Given the description of an element on the screen output the (x, y) to click on. 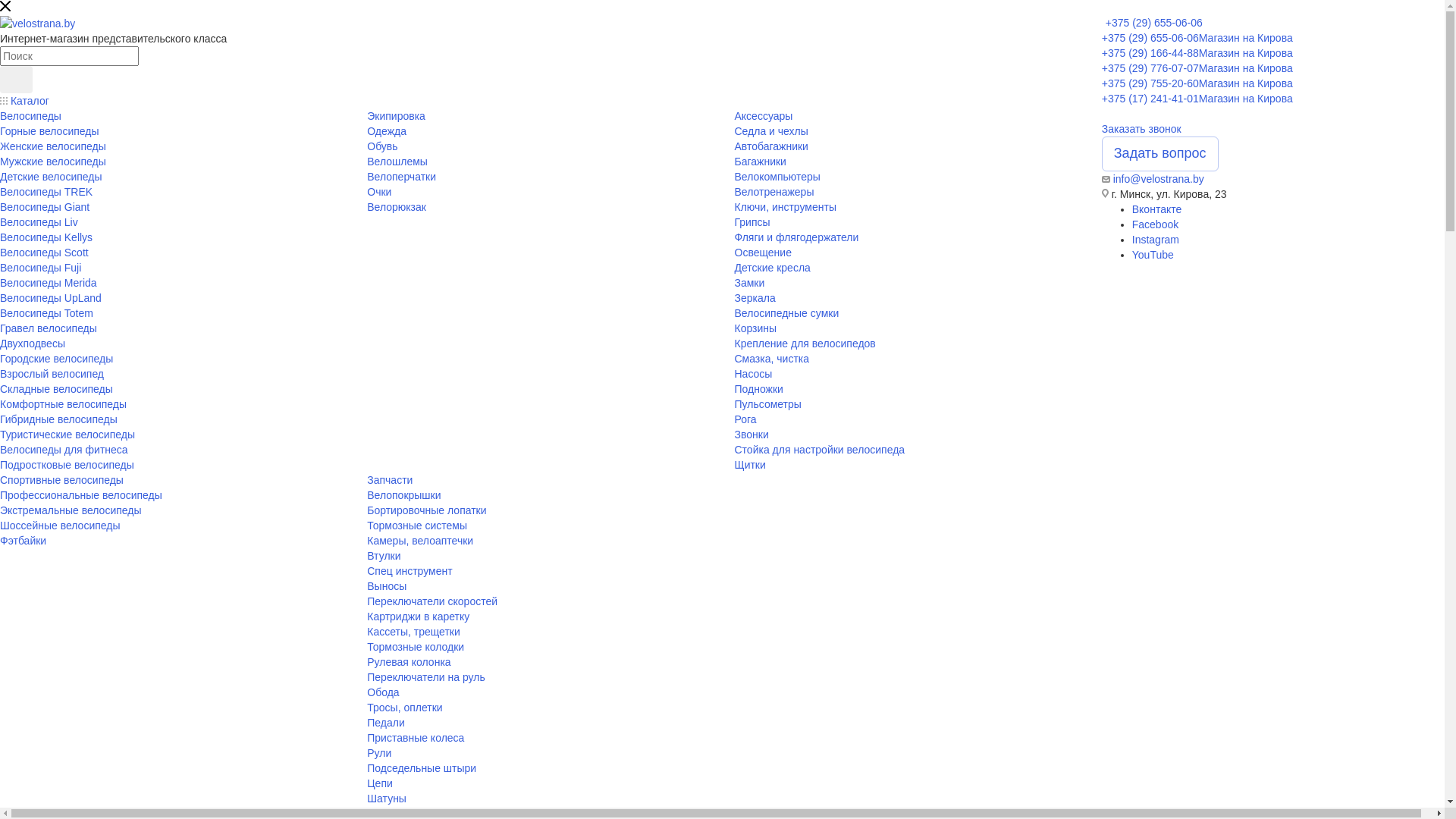
velostrana.by Element type: hover (37, 23)
Facebook Element type: text (1155, 224)
Instagram Element type: text (1155, 239)
YouTube Element type: text (1152, 254)
info@velostrana.by Element type: text (1158, 178)
+375 (29) 655-06-06 Element type: text (1153, 22)
